Given the description of an element on the screen output the (x, y) to click on. 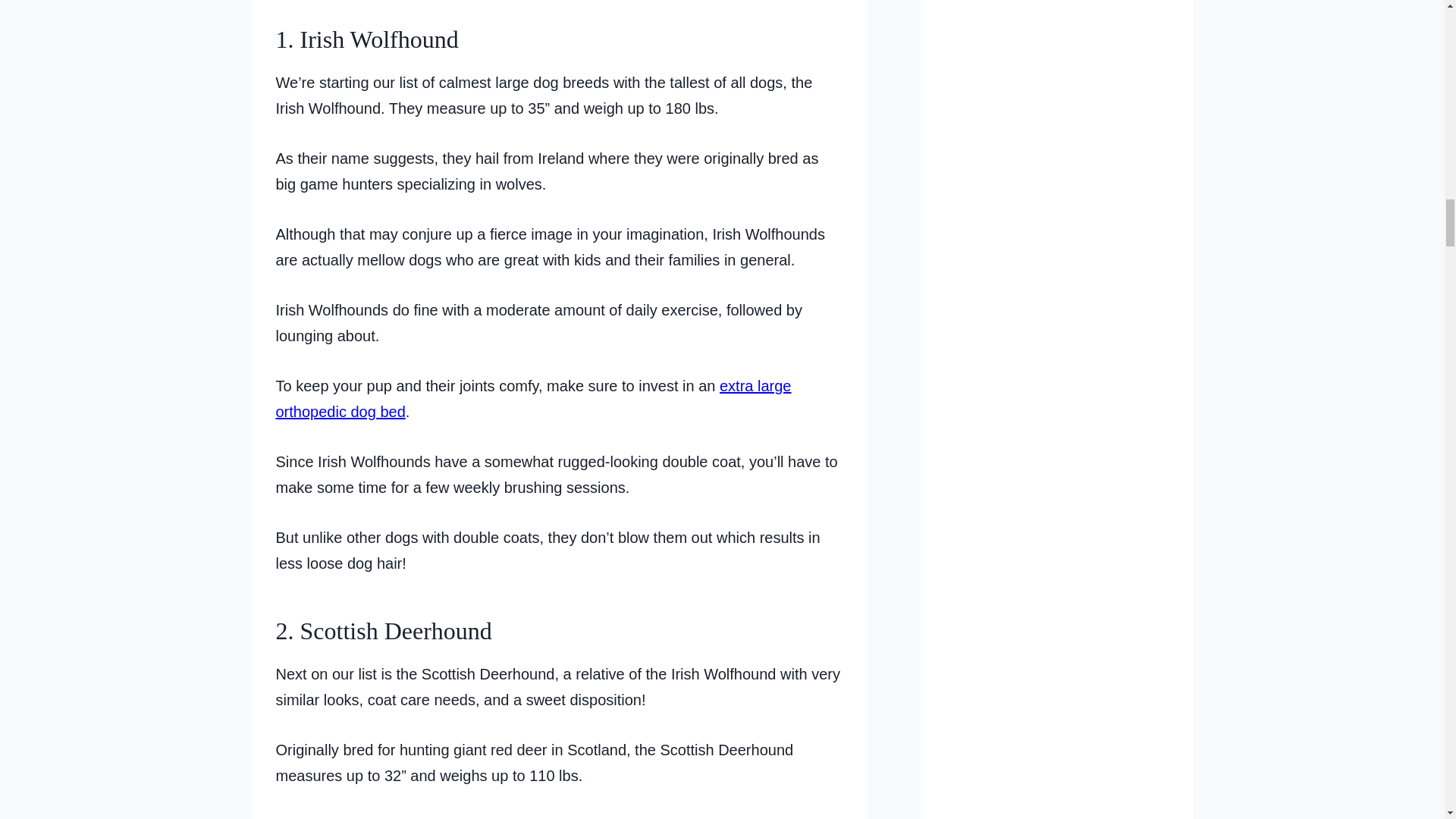
extra large orthopedic dog bed (534, 398)
